Given the description of an element on the screen output the (x, y) to click on. 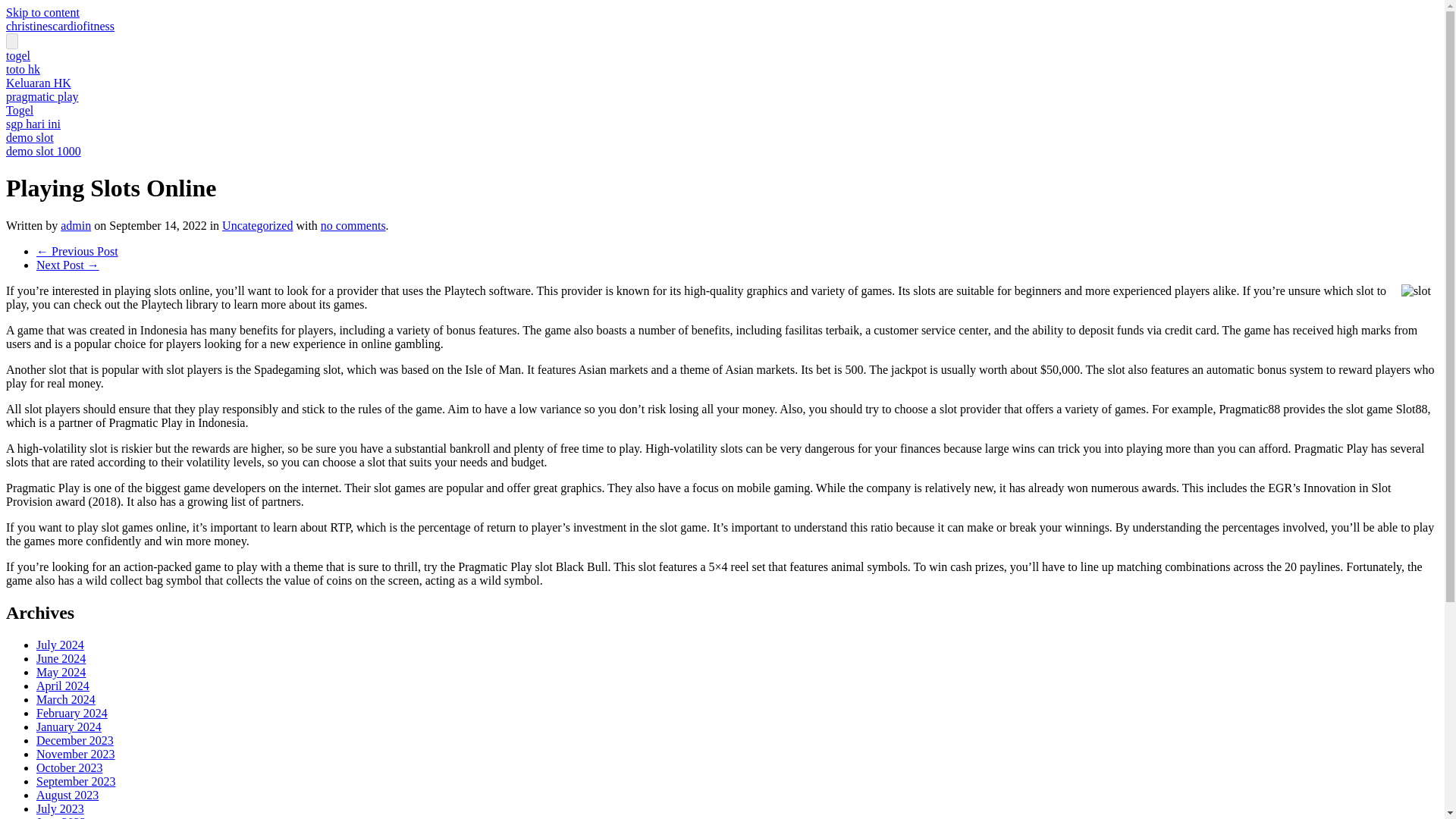
sgp hari ini (33, 123)
admin (75, 225)
demo slot 1000 (43, 151)
July 2023 (60, 808)
September 2023 (75, 780)
April 2024 (62, 685)
togel (17, 55)
Togel (19, 110)
open navigation links (11, 41)
Uncategorized (257, 225)
christinescardiofitness (60, 25)
February 2024 (71, 712)
Menu (11, 41)
Keluaran HK (38, 82)
pragmatic play (41, 96)
